Given the description of an element on the screen output the (x, y) to click on. 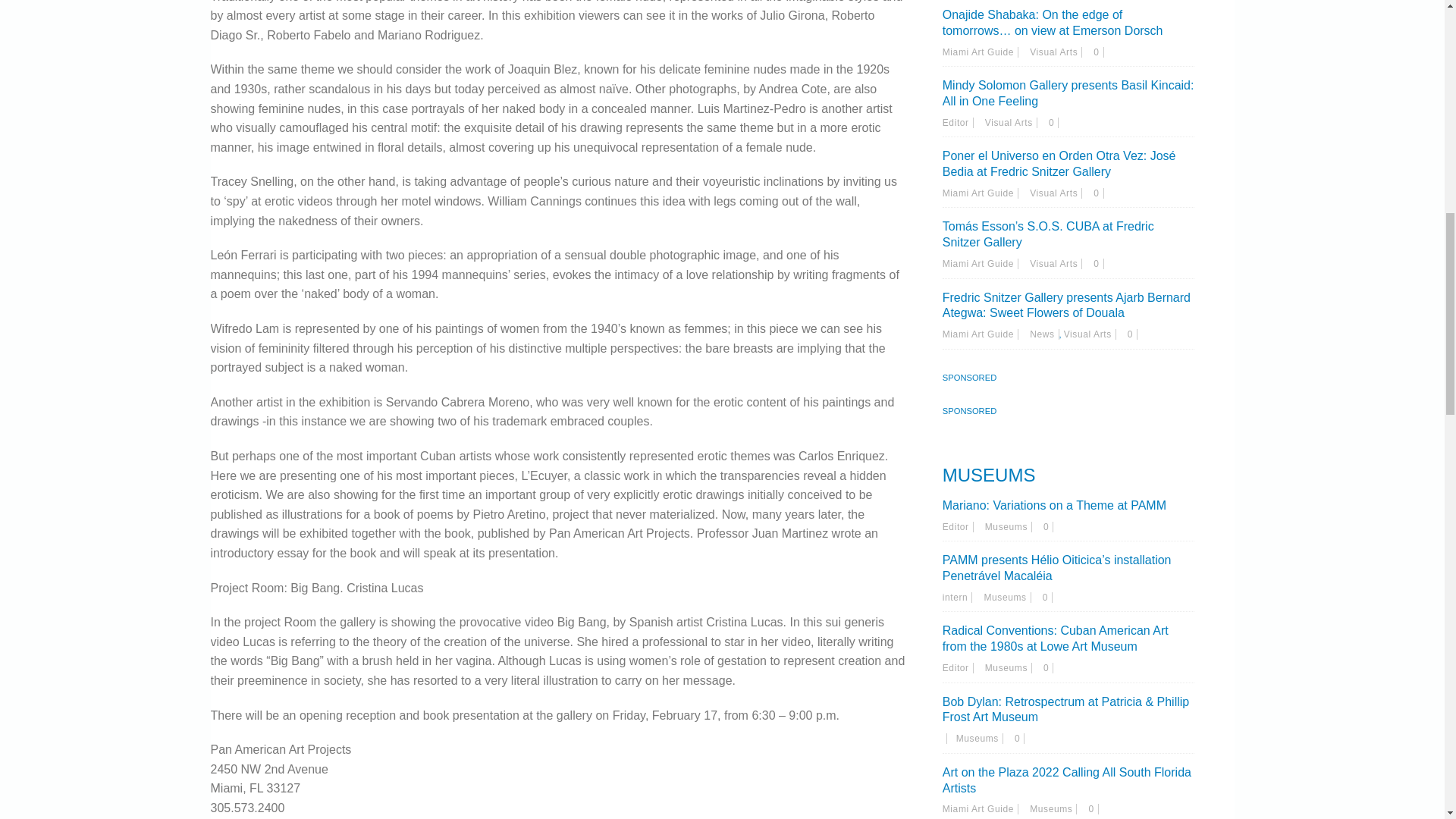
0 (1098, 263)
0 (1098, 193)
0 (1098, 51)
0 (1131, 334)
0 (1053, 122)
0 (1047, 597)
0 (1092, 808)
0 (1047, 526)
0 (1047, 667)
0 (1019, 738)
